Given the description of an element on the screen output the (x, y) to click on. 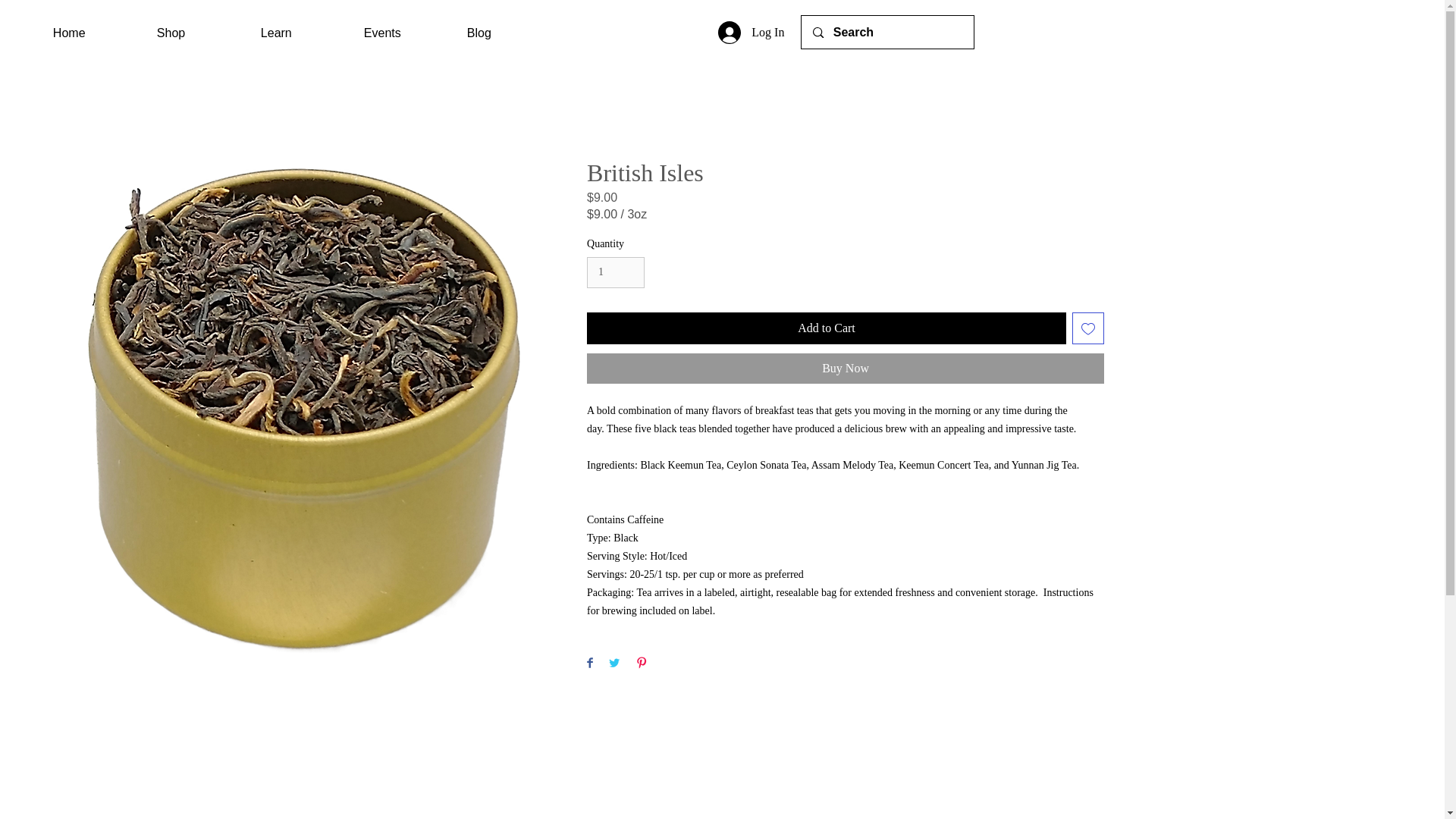
1 (615, 272)
Home (93, 33)
Learn (300, 33)
Events (403, 33)
Buy Now (844, 368)
Shop (196, 33)
Add to Cart (825, 327)
Blog (507, 33)
Log In (750, 32)
